Given the description of an element on the screen output the (x, y) to click on. 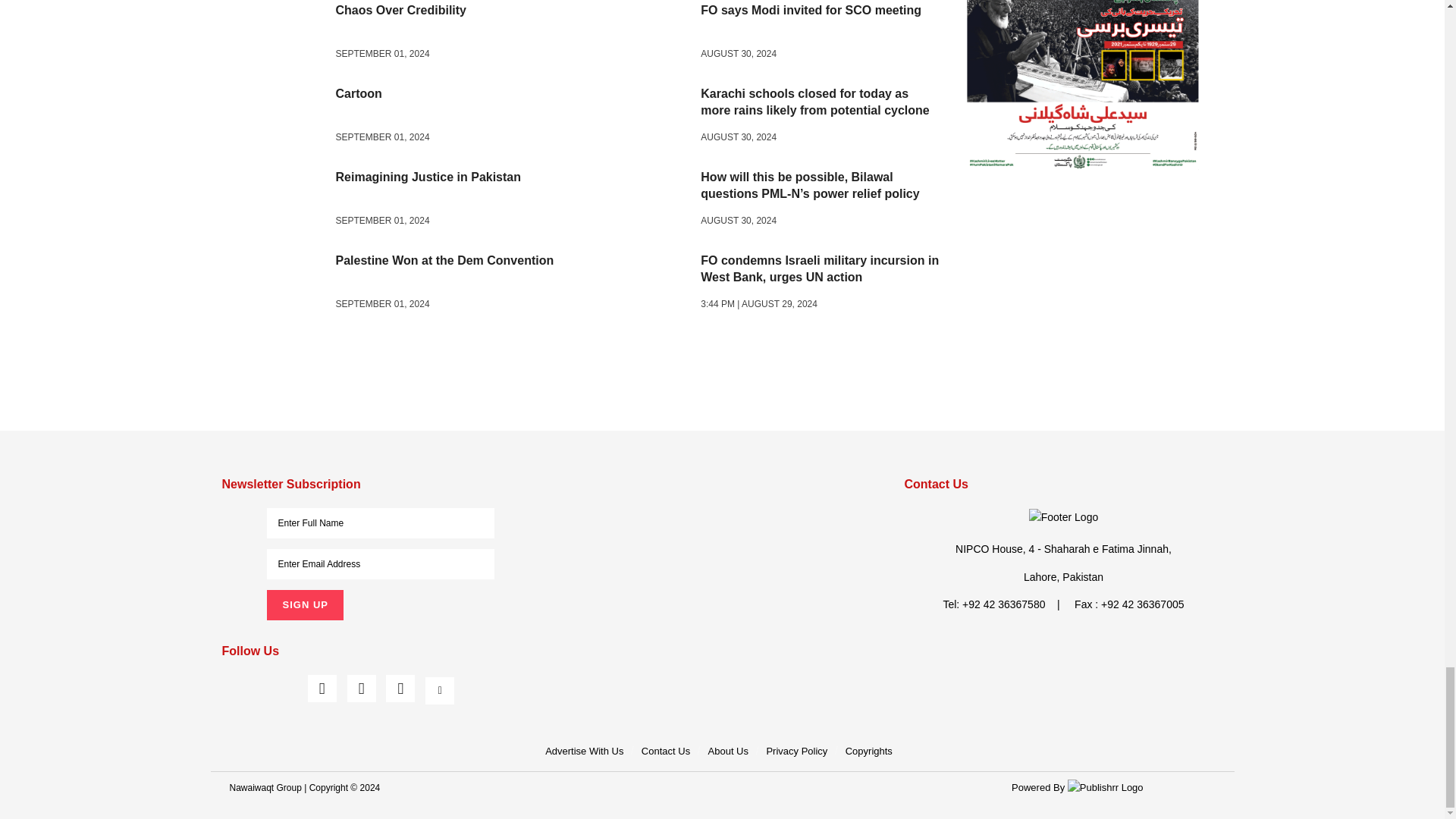
FO says Modi invited for SCO meeting (643, 33)
Chaos Over Credibility (278, 33)
Cartoon (278, 117)
Palestine Won at the Dem Convention (278, 283)
Sign up (304, 604)
Reimagining Justice in Pakistan (278, 200)
